Given the description of an element on the screen output the (x, y) to click on. 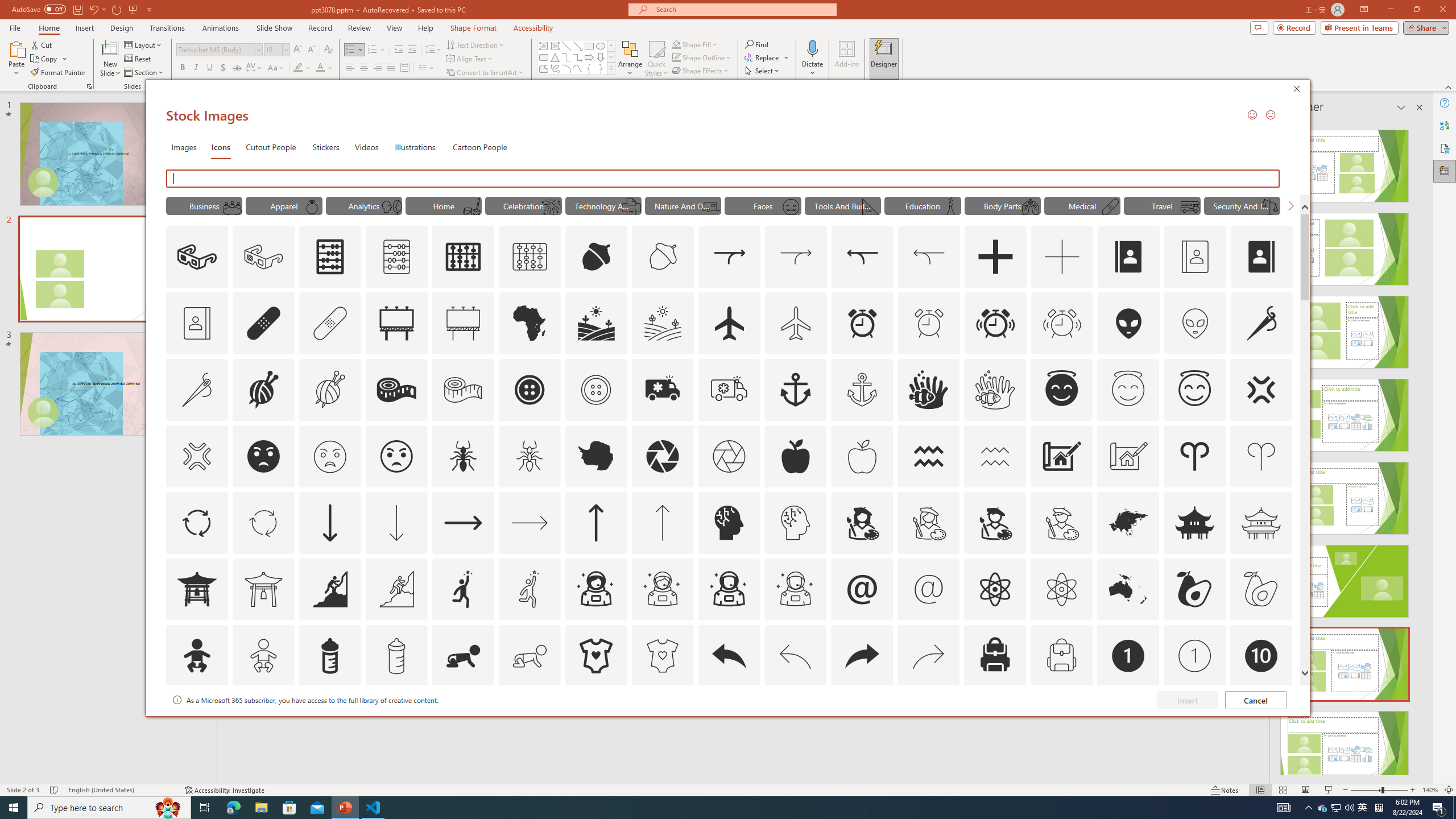
AutomationID: Icons_Badge8_M (1128, 721)
Decrease Indent (398, 49)
Action Center, 1 new notification (1439, 807)
AutomationID: Icons_Acquisition_LTR (729, 256)
AutomationID: Icons_Advertising (397, 323)
AutomationID: Icons_BabyCrawling_M (529, 655)
Class: NetUIScrollBar (1418, 447)
AutomationID: Icons_Avocado (1194, 588)
AutomationID: Icons_Acorn (596, 256)
AutomationID: Icons_Add (995, 256)
Italic (195, 67)
AutomationID: Icons_Badge1_M (1194, 655)
